Given the description of an element on the screen output the (x, y) to click on. 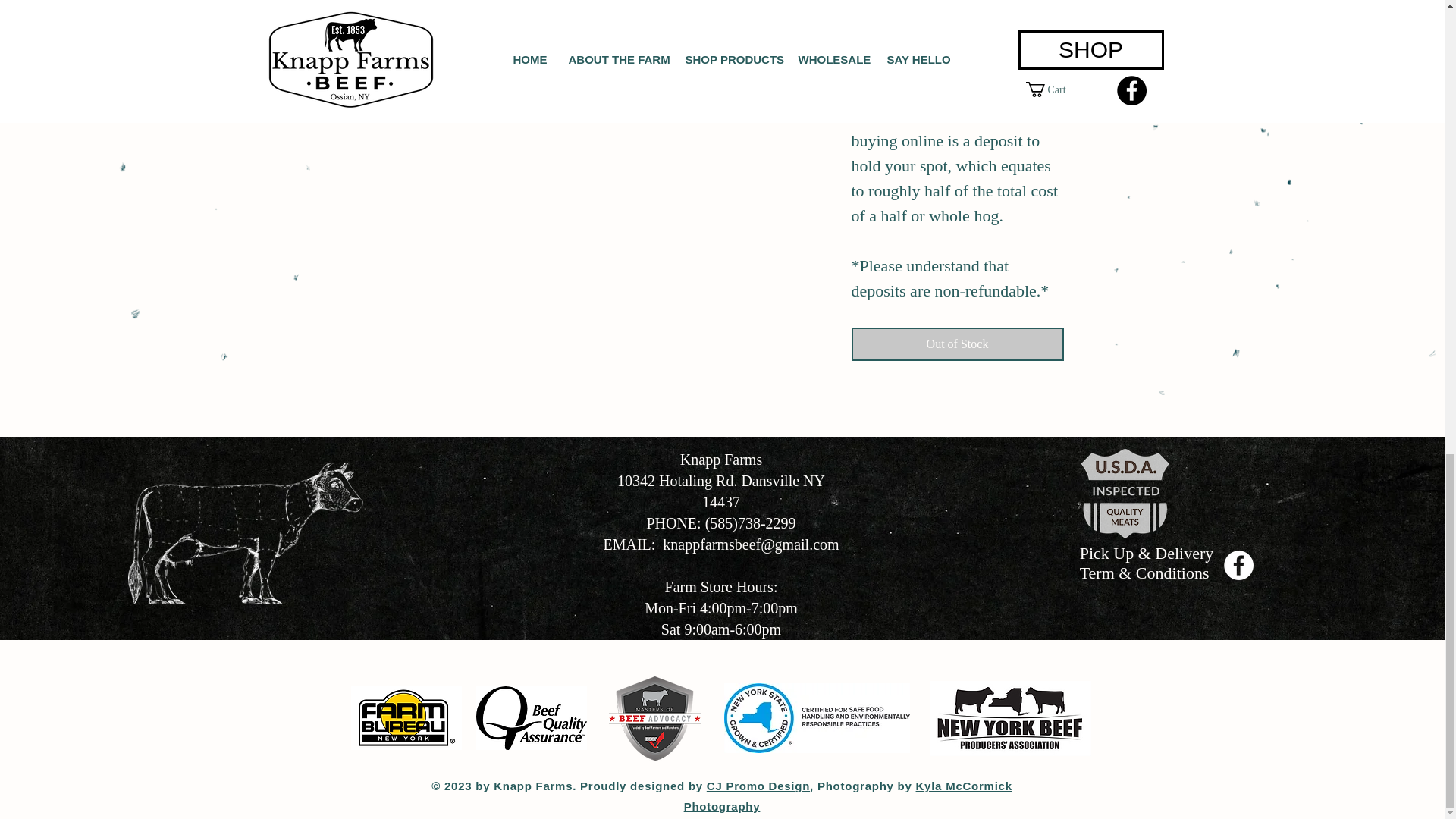
CJ Promo Design (757, 785)
Out of Stock (956, 344)
Kyla McCormick Photography (847, 796)
